Given the description of an element on the screen output the (x, y) to click on. 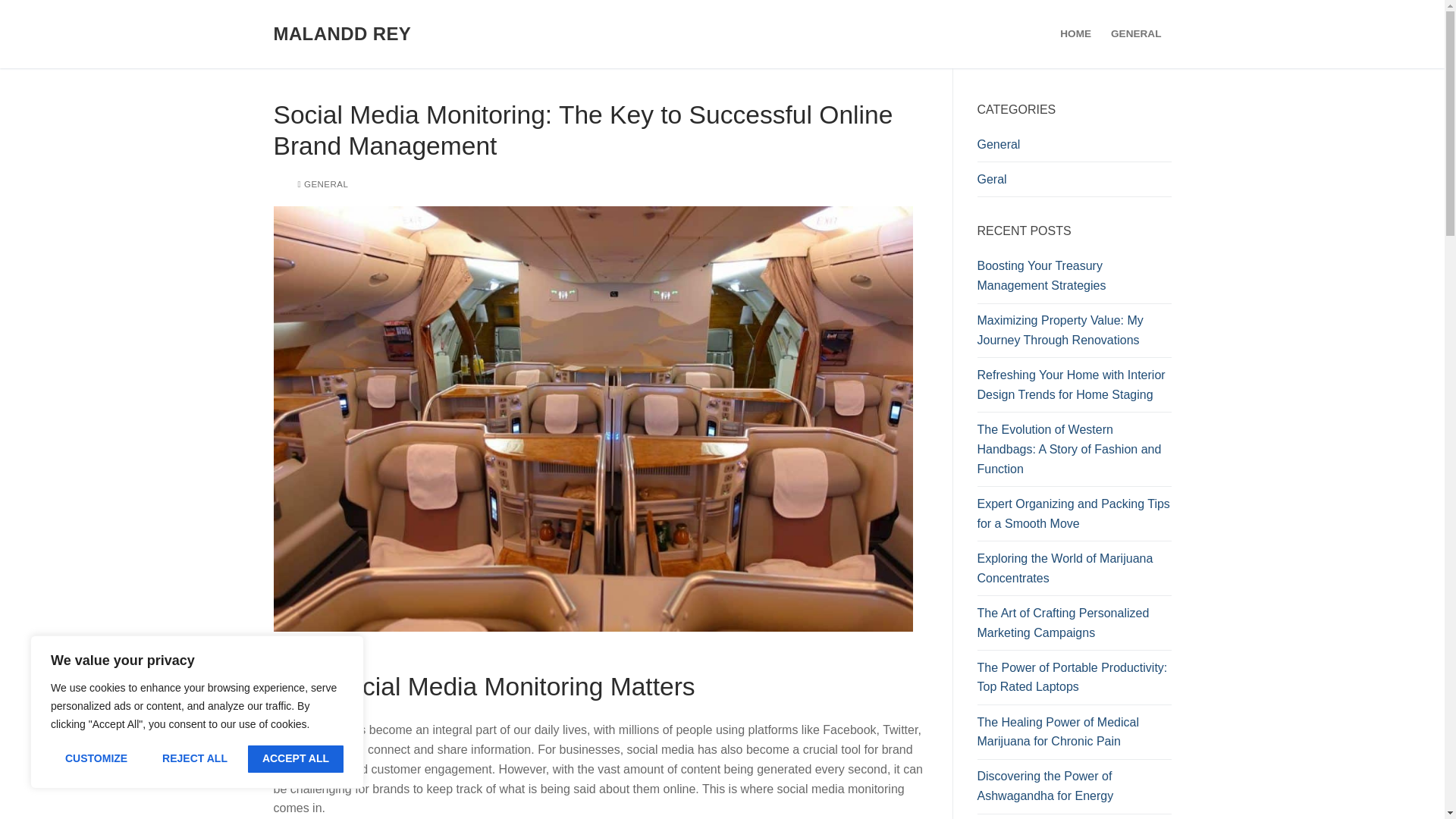
Boosting Your Treasury Management Strategies (1073, 279)
REJECT ALL (194, 759)
CUSTOMIZE (95, 759)
GENERAL (322, 184)
General (1073, 148)
ACCEPT ALL (295, 759)
MALANDD REY (341, 33)
Maximizing Property Value: My Journey Through Renovations (1073, 334)
GENERAL (1135, 33)
Geral (1073, 183)
